Given the description of an element on the screen output the (x, y) to click on. 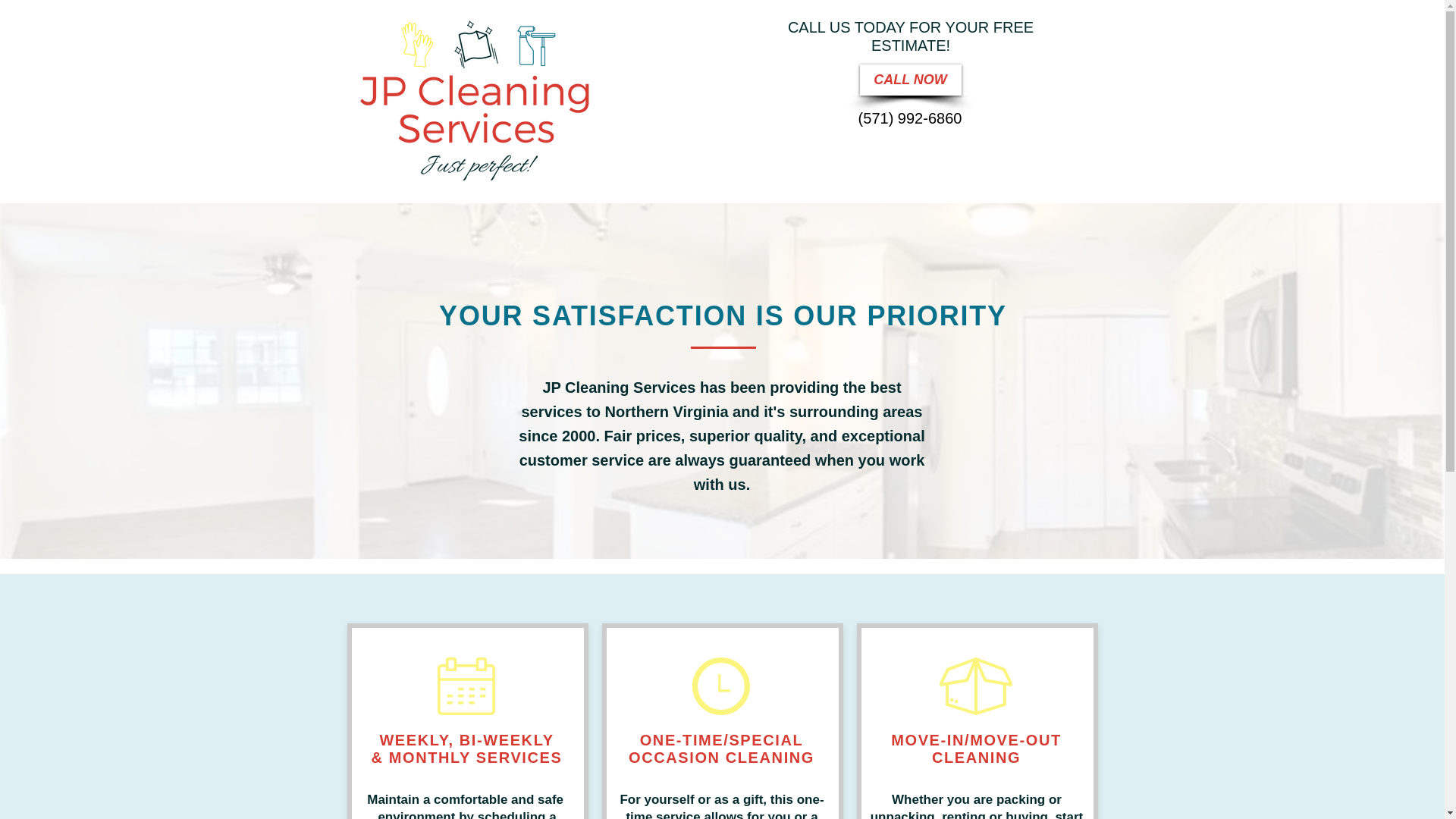
CALL NOW (910, 79)
